Given the description of an element on the screen output the (x, y) to click on. 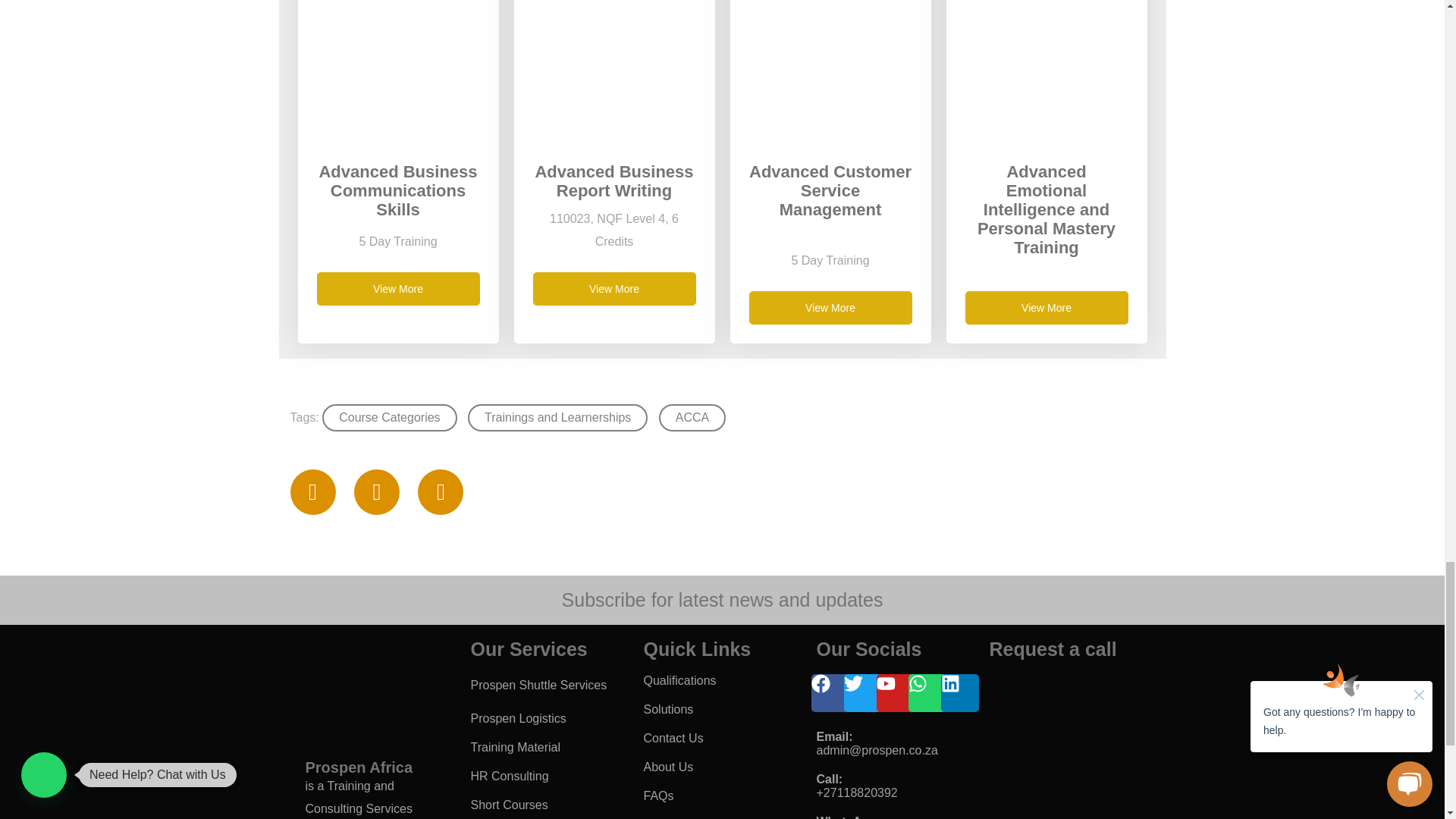
Form 1 (1067, 746)
